Given the description of an element on the screen output the (x, y) to click on. 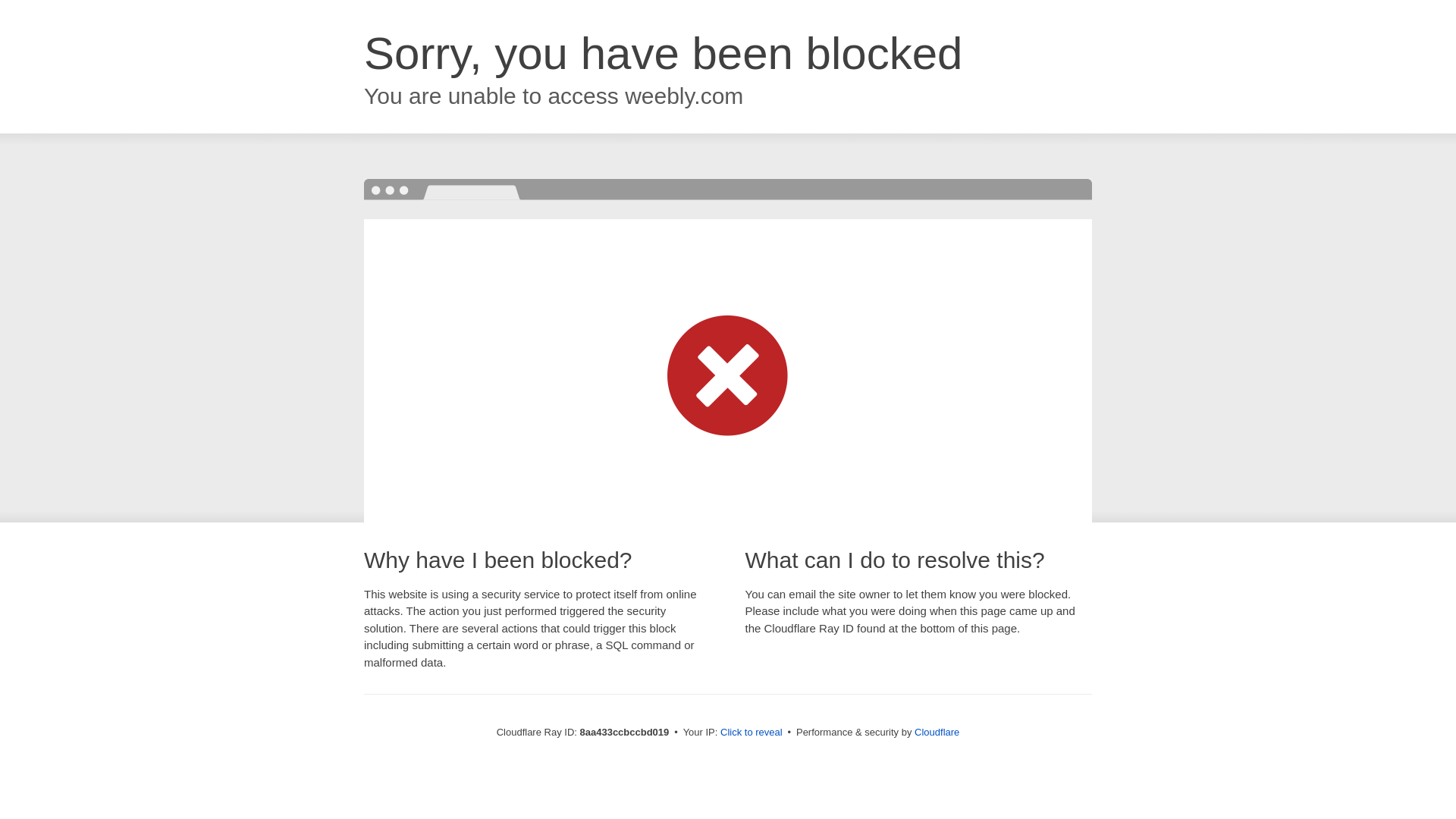
Click to reveal (751, 732)
Cloudflare (936, 731)
